Given the description of an element on the screen output the (x, y) to click on. 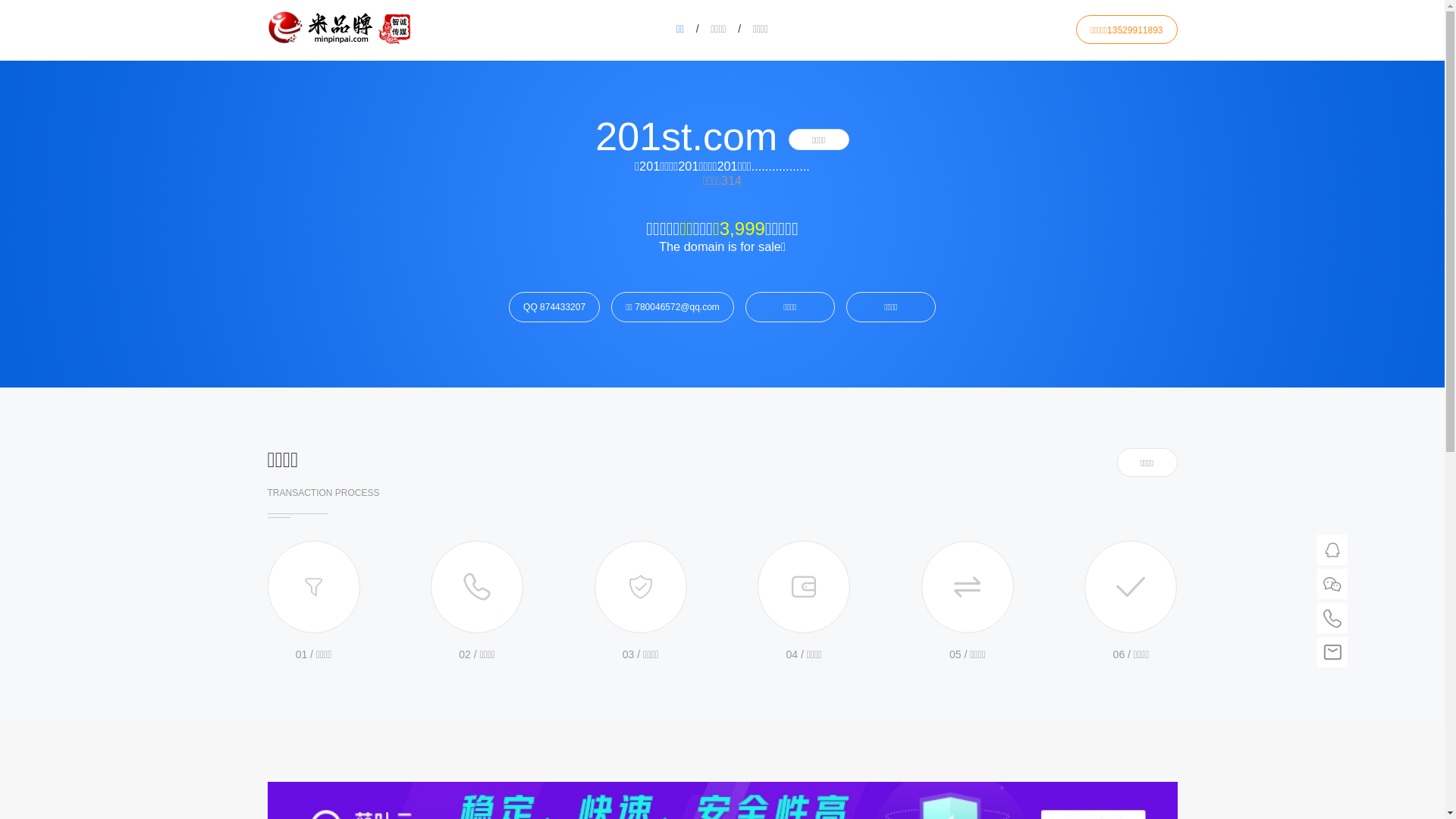
QQ 874433207 Element type: text (553, 306)
